Given the description of an element on the screen output the (x, y) to click on. 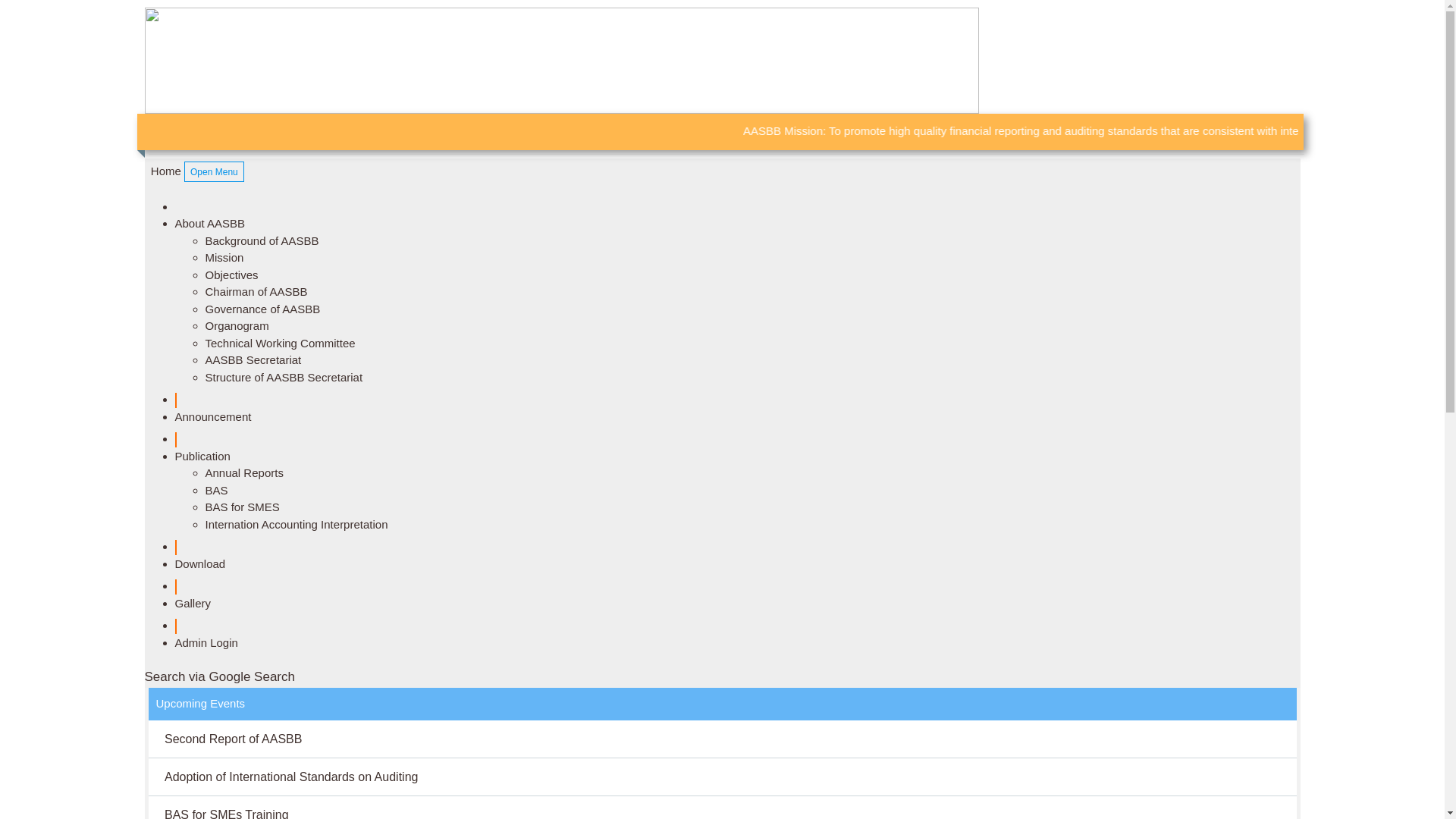
About AASBB Element type: text (209, 222)
AASBB Secretariat Element type: text (252, 359)
Technical Working Committee Element type: text (279, 342)
Adoption of International Standards on Auditing Element type: text (290, 776)
Annual Reports Element type: text (243, 472)
Chairman of AASBB Element type: text (255, 291)
Announcement Element type: text (212, 415)
Download Element type: text (199, 562)
Internation Accounting Interpretation Element type: text (295, 523)
Search via Google Search   Element type: text (222, 676)
Publication Element type: text (201, 454)
Mission Element type: text (223, 257)
Background of AASBB Element type: text (261, 239)
BAS for SMES Element type: text (241, 506)
  Home Element type: text (162, 170)
Structure of AASBB Secretariat Element type: text (283, 376)
BAS Element type: text (215, 489)
Admin Login Element type: text (205, 641)
Gallery Element type: text (192, 602)
Governance of AASBB Element type: text (262, 307)
Open Menu Element type: text (214, 171)
Second Report of AASBB Element type: text (232, 738)
Objectives Element type: text (230, 274)
Organogram Element type: text (236, 325)
